Given the description of an element on the screen output the (x, y) to click on. 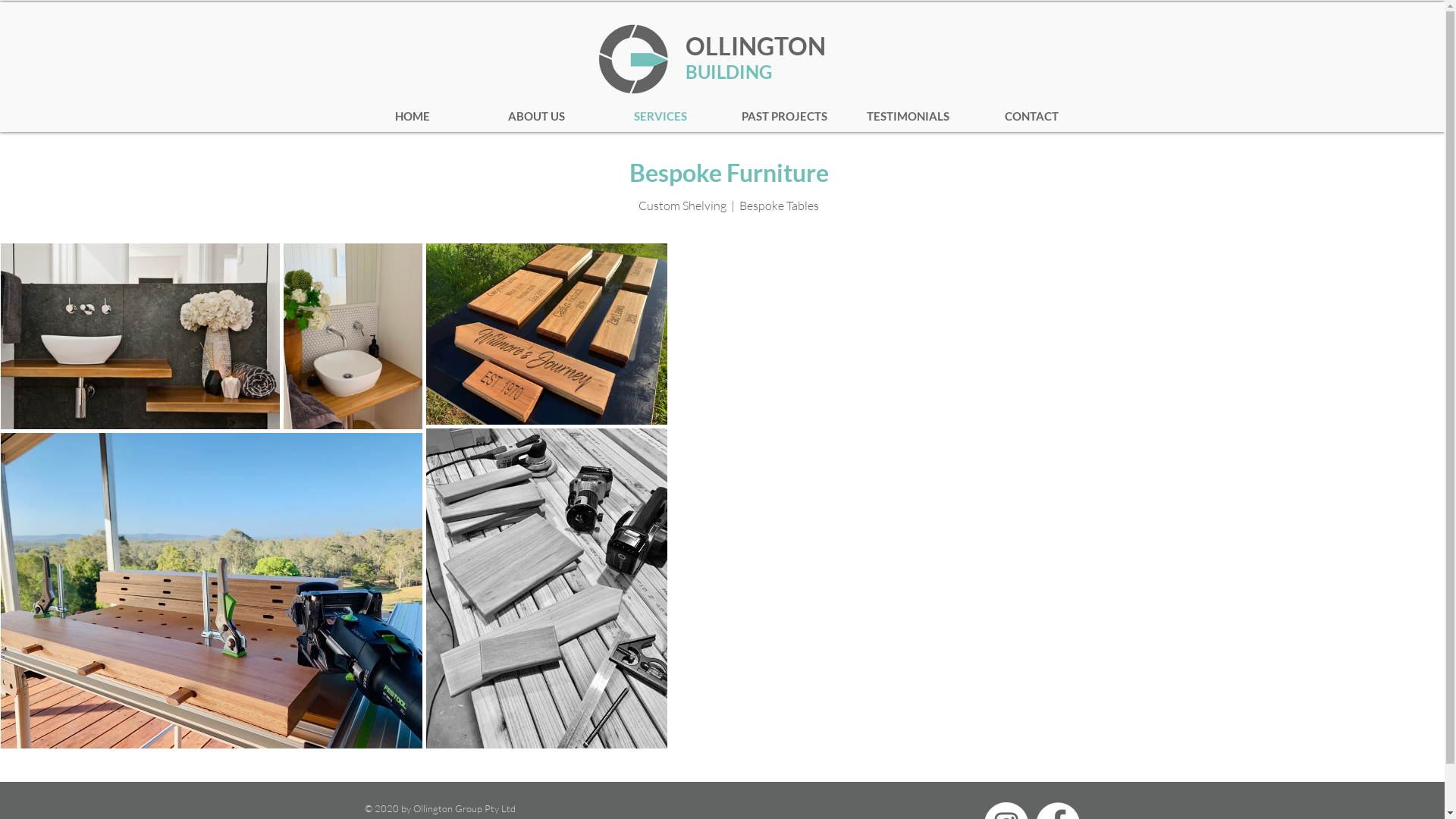
CONTACT Element type: text (1030, 115)
HOME Element type: text (412, 115)
PAST PROJECTS Element type: text (783, 115)
ABOUT US Element type: text (536, 115)
SERVICES Element type: text (660, 115)
TESTIMONIALS Element type: text (907, 115)
